Given the description of an element on the screen output the (x, y) to click on. 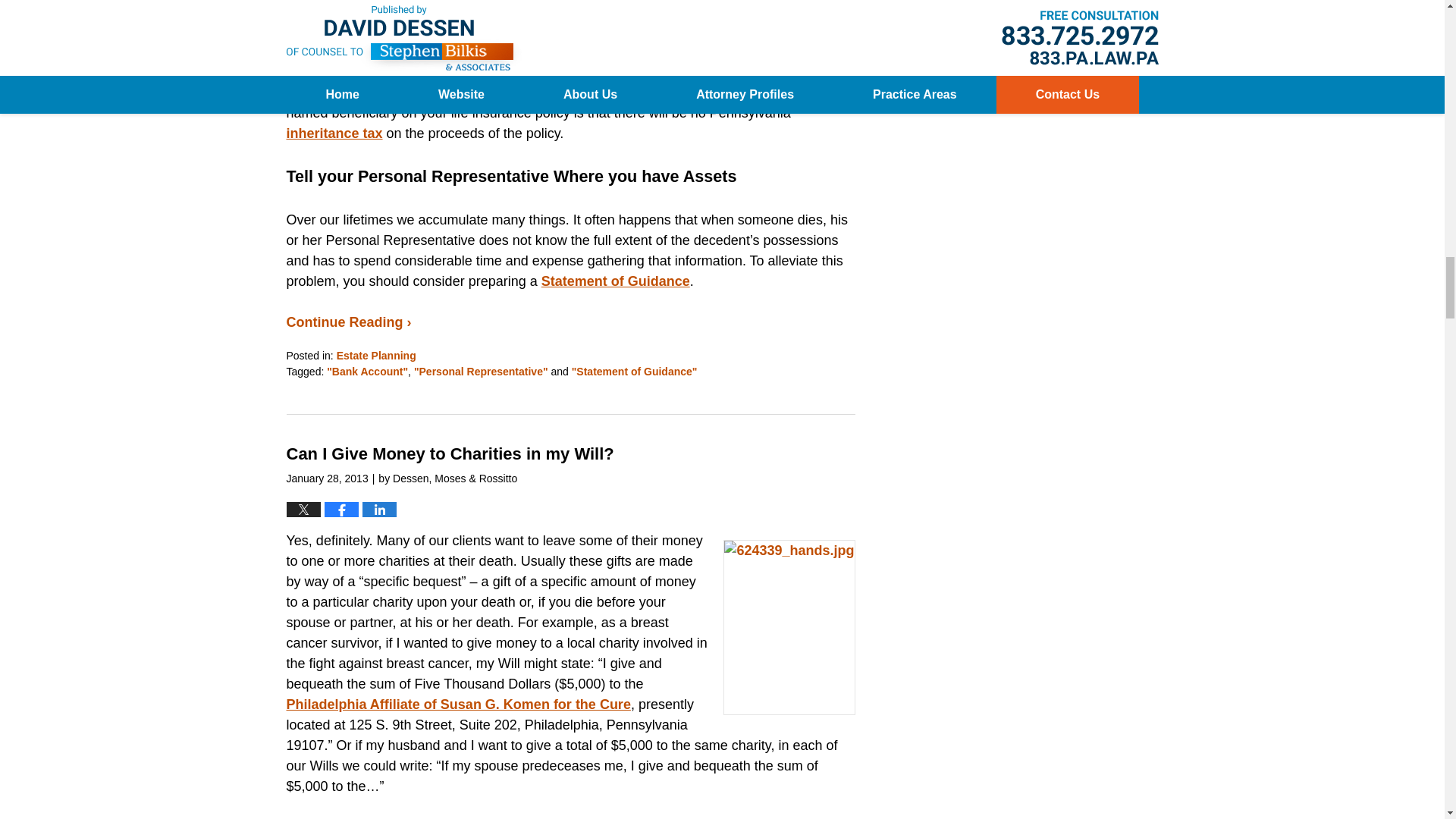
Permalink to Can I Give Money to Charities in my Will? (450, 453)
View all posts in Estate Planning (376, 355)
View all posts tagged with "Statement of Guidance" (634, 371)
View all posts tagged with "Bank Account" (366, 371)
View all posts tagged with "Personal Representative" (480, 371)
